Given the description of an element on the screen output the (x, y) to click on. 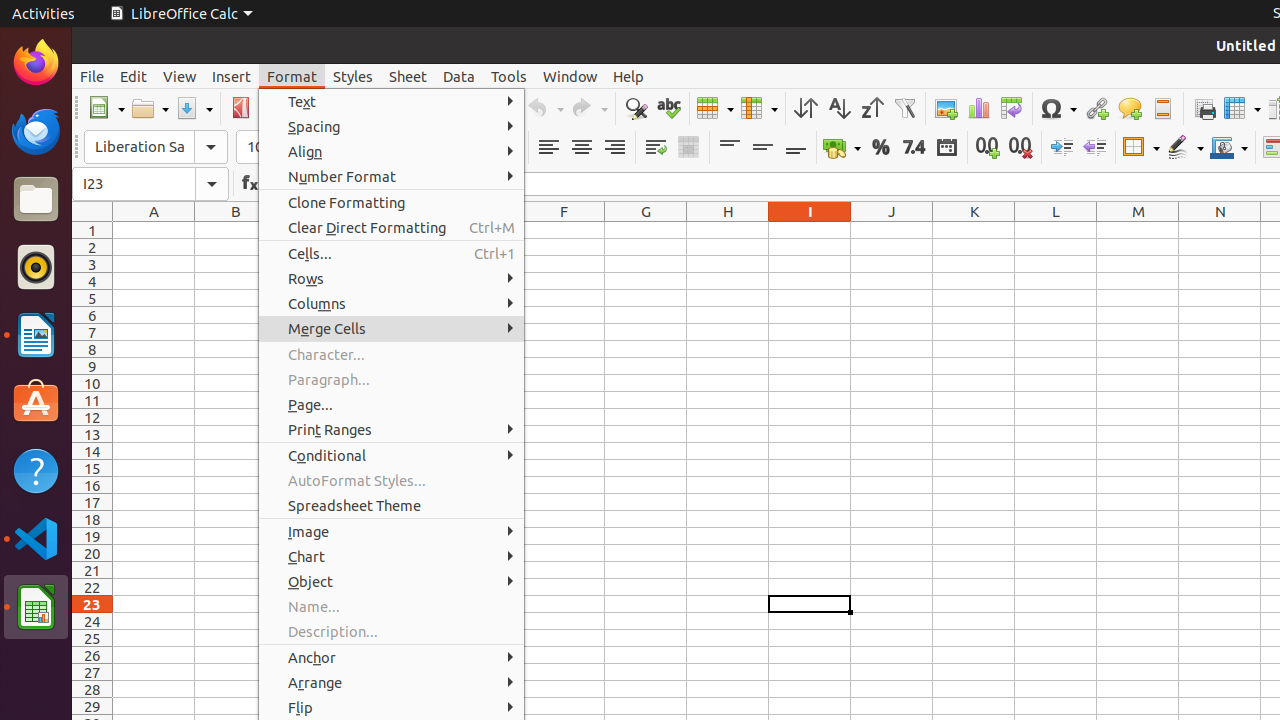
Apply Style Element type: text (73, 129)
Currency Element type: push-button (842, 147)
L1 Element type: table-cell (1056, 230)
G1 Element type: table-cell (646, 230)
Borders (Shift to overwrite) Element type: push-button (1141, 147)
